Given the description of an element on the screen output the (x, y) to click on. 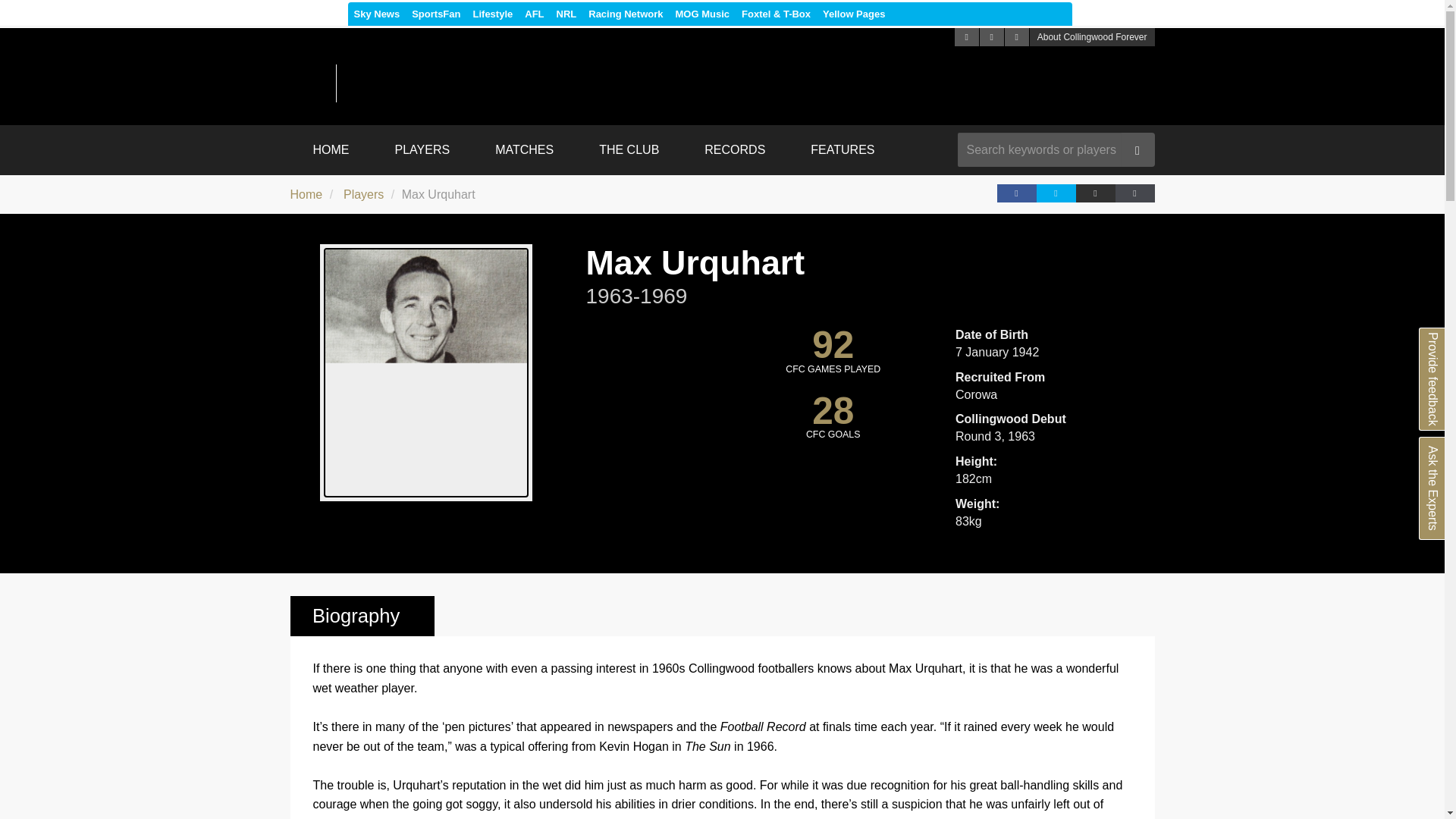
HOME (330, 150)
SportsFan (435, 13)
Collingwood Forever (503, 83)
Telstra (1059, 13)
THE CLUB (628, 150)
NRL (566, 13)
AFL (534, 13)
Racing Network (625, 13)
MOG Music (701, 13)
PLAYERS (421, 150)
